Given the description of an element on the screen output the (x, y) to click on. 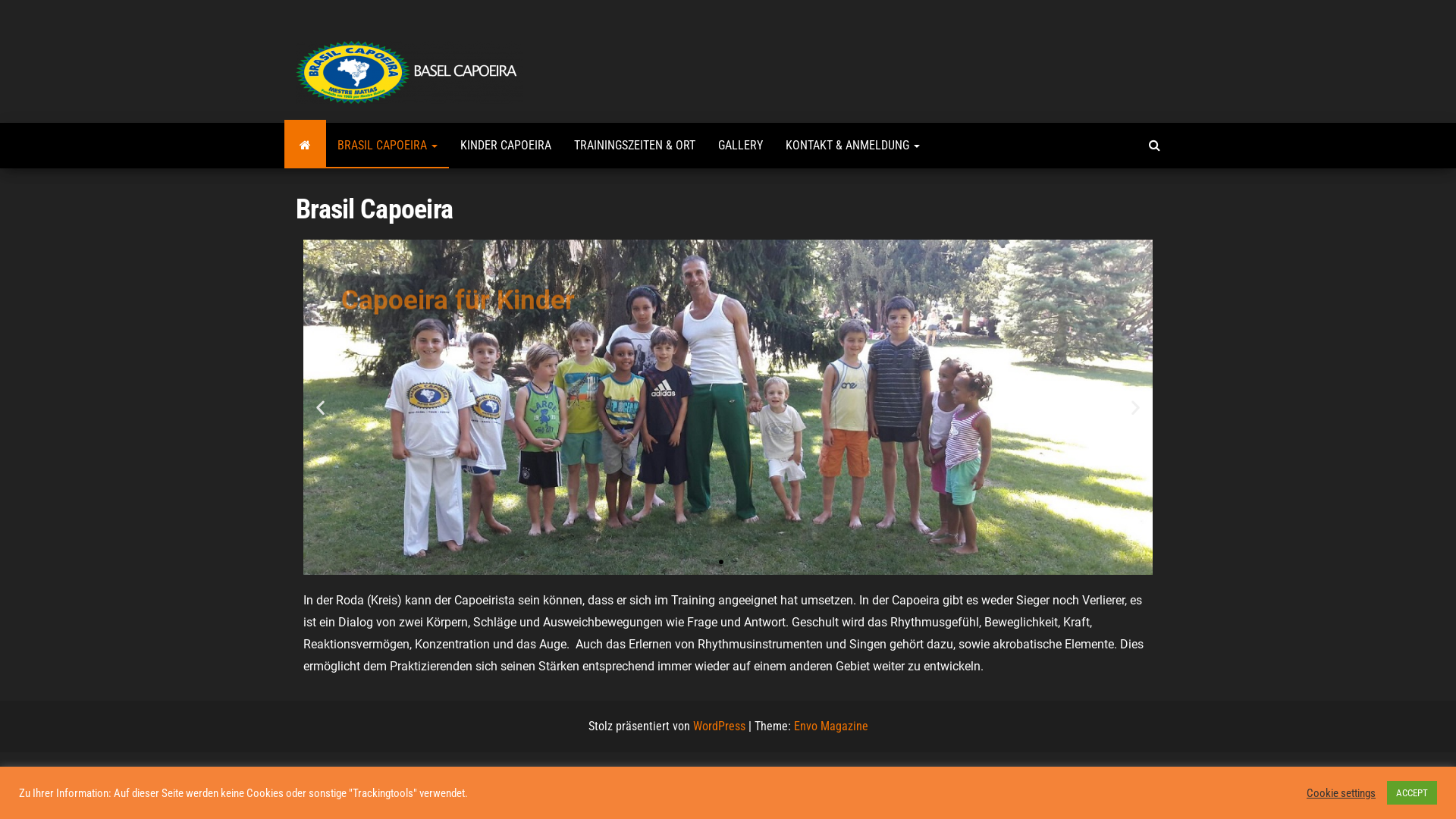
Cookie settings Element type: text (1340, 792)
ACCEPT Element type: text (1411, 792)
KINDER CAPOEIRA Element type: text (505, 145)
WordPress Element type: text (719, 725)
Basel Capoeira Element type: hover (305, 145)
Envo Magazine Element type: text (830, 725)
KONTAKT & ANMELDUNG Element type: text (852, 145)
TRAININGSZEITEN & ORT Element type: text (634, 145)
BRASIL CAPOEIRA Element type: text (387, 145)
Basel Capoeira Element type: text (756, 54)
GALLERY Element type: text (740, 145)
